Given the description of an element on the screen output the (x, y) to click on. 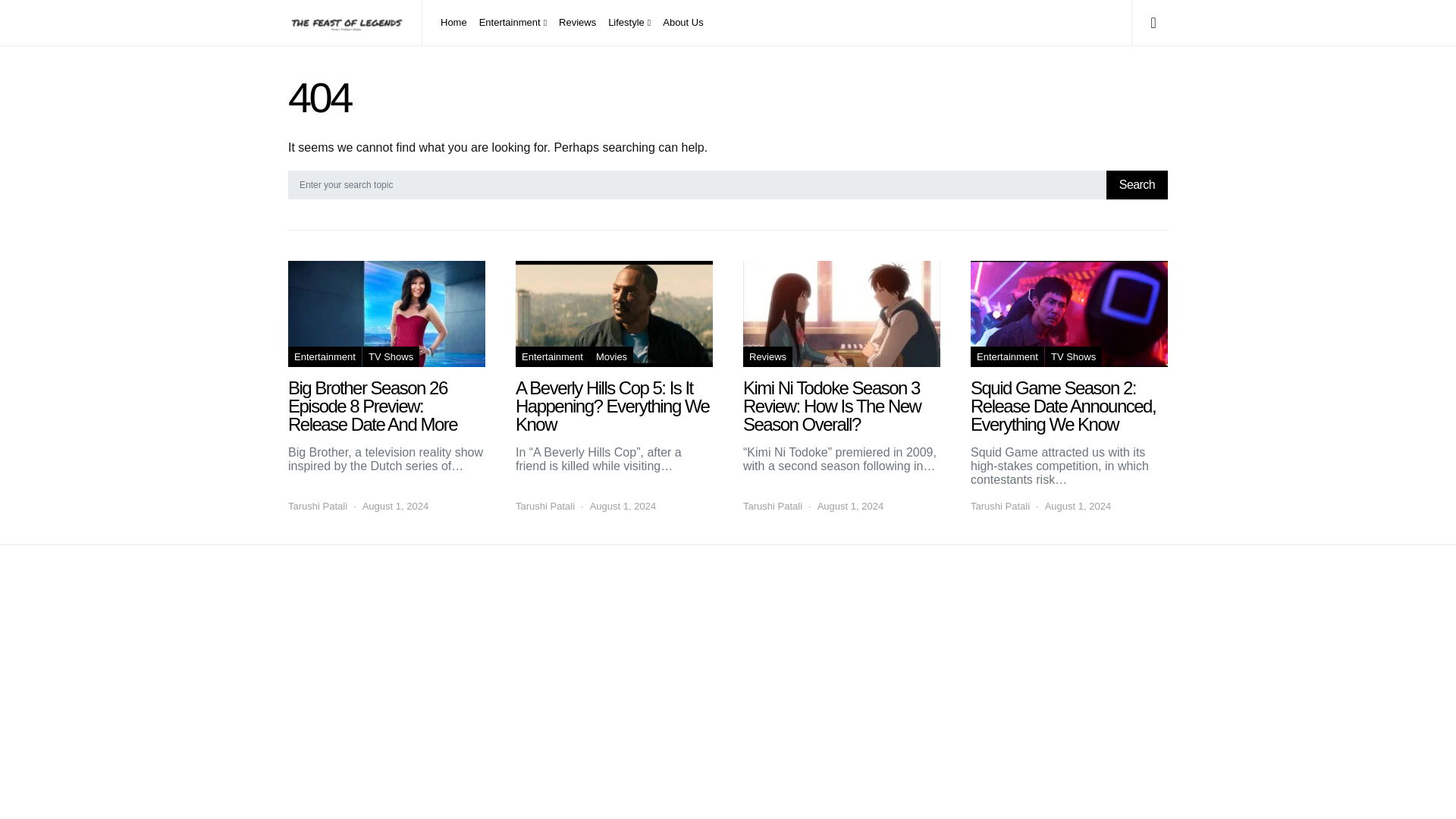
Reviews (767, 356)
Reviews (577, 22)
About Us (679, 22)
Search (1136, 184)
Movies (611, 356)
Lifestyle (629, 22)
TV Shows (1073, 356)
View all posts by Tarushi Patali (1000, 506)
Tarushi Patali (1000, 506)
View all posts by Tarushi Patali (545, 506)
Fact-Checking Policy (394, 626)
View all posts by Tarushi Patali (772, 506)
Tarushi Patali (317, 506)
Entertainment (552, 356)
Tarushi Patali (772, 506)
